Given the description of an element on the screen output the (x, y) to click on. 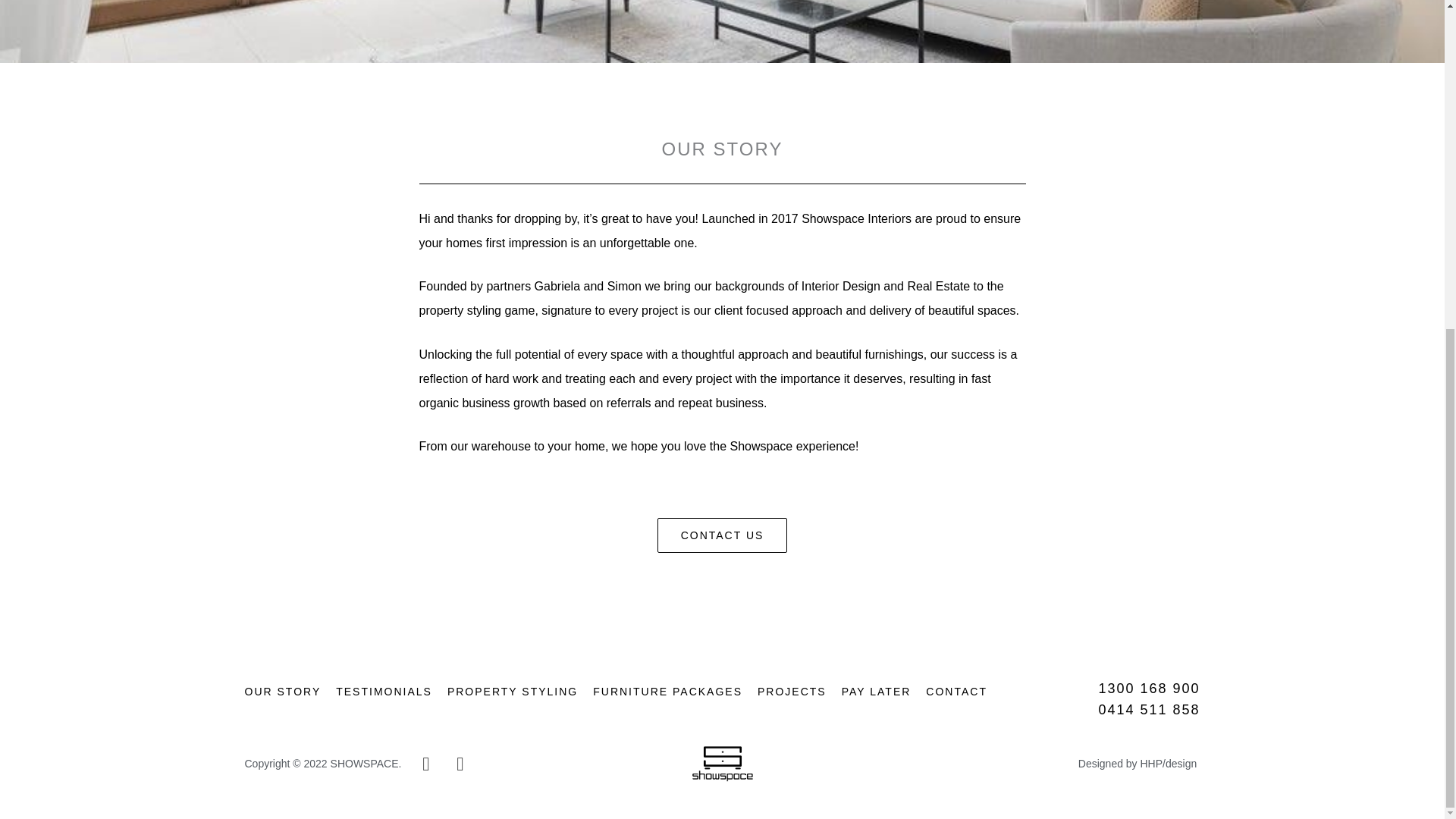
TESTIMONIALS (384, 691)
PROJECTS (792, 691)
CONTACT (956, 691)
PROPERTY STYLING (512, 691)
CONTACT US (722, 534)
FURNITURE PACKAGES (667, 691)
OUR STORY (282, 691)
PAY LATER (876, 691)
